Given the description of an element on the screen output the (x, y) to click on. 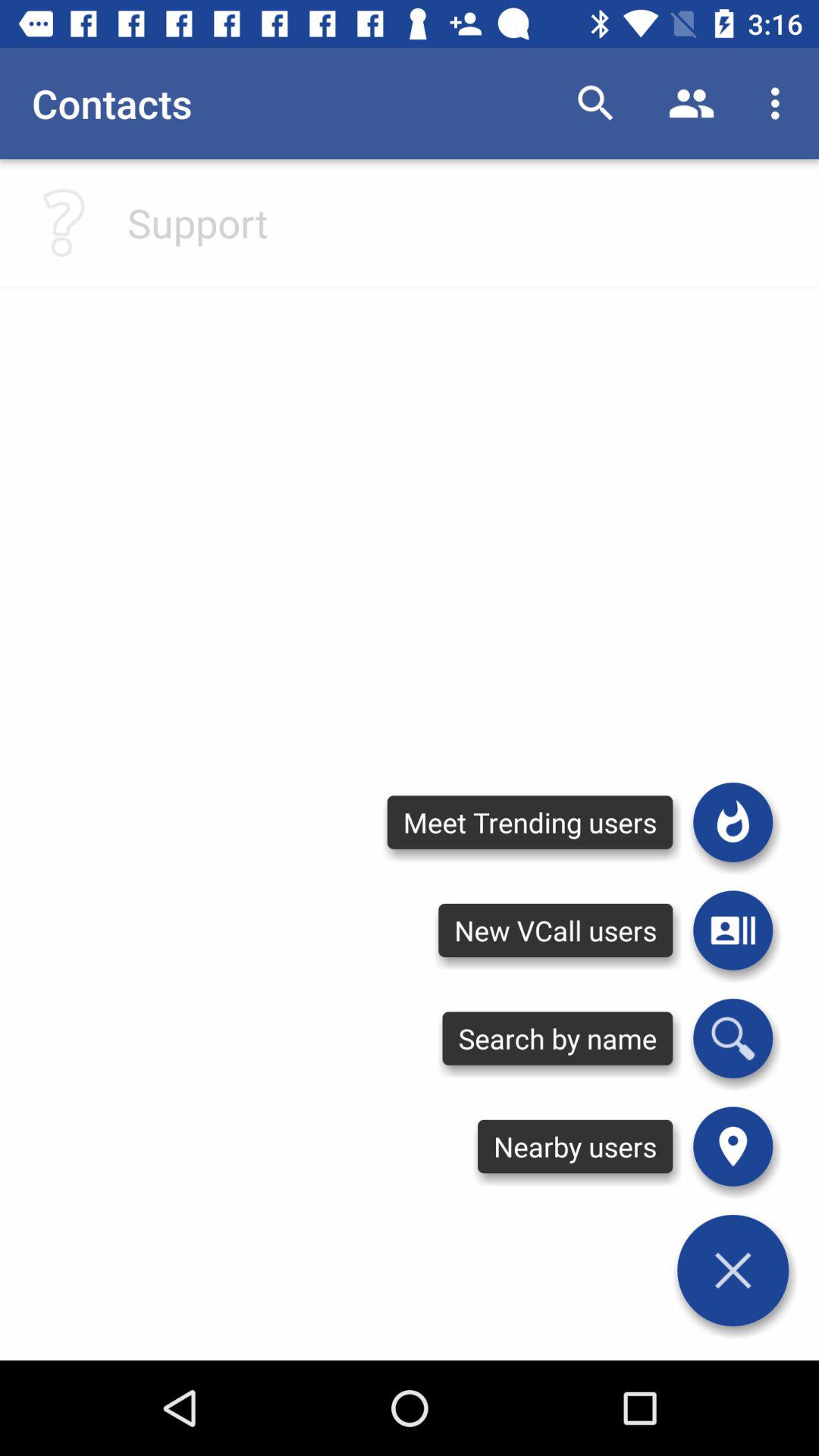
exit (733, 1270)
